Given the description of an element on the screen output the (x, y) to click on. 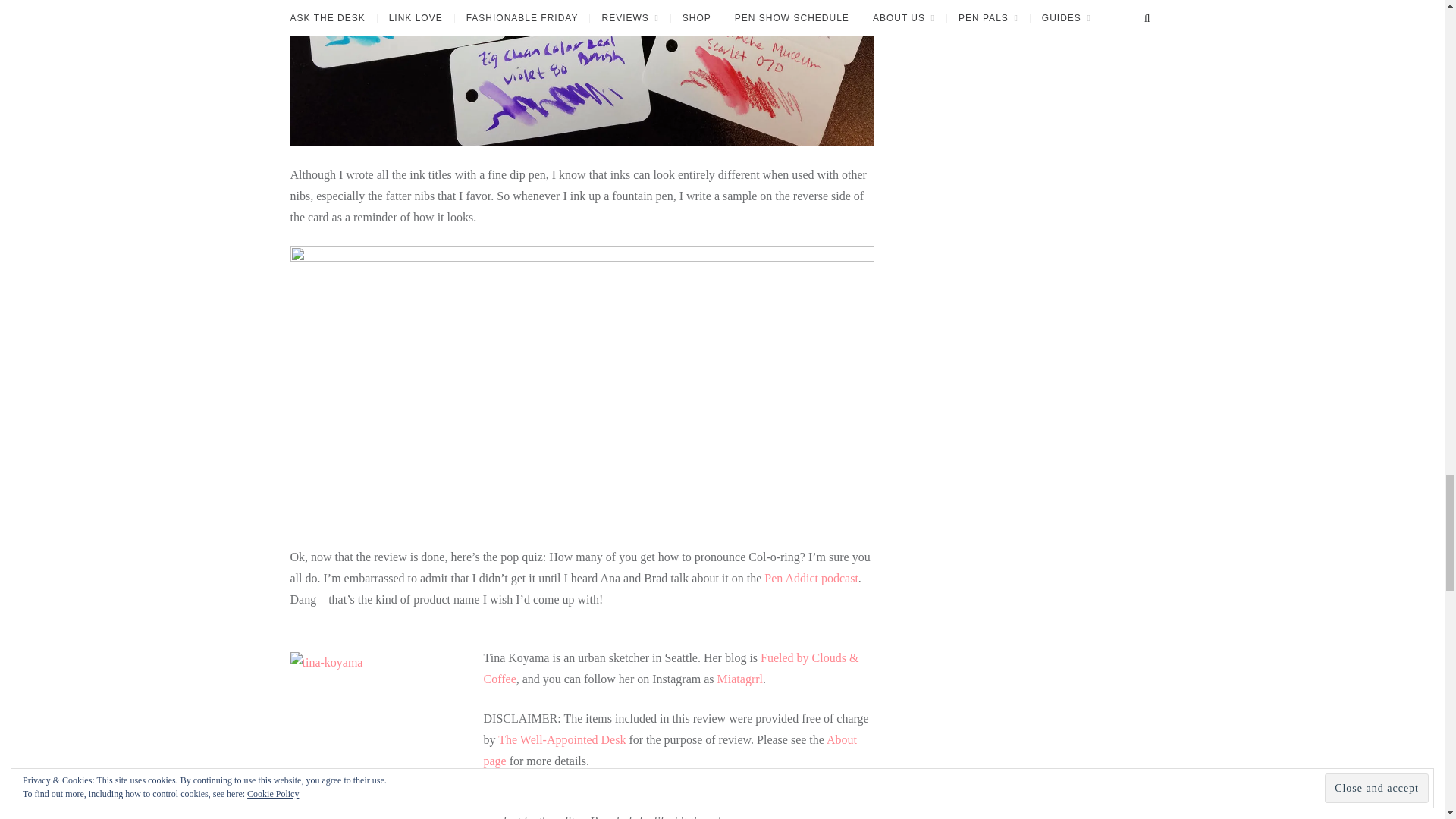
Miatagrrl (739, 678)
Pen Addict podcast (811, 577)
About page (670, 750)
The Well-Appointed Desk (561, 739)
